Given the description of an element on the screen output the (x, y) to click on. 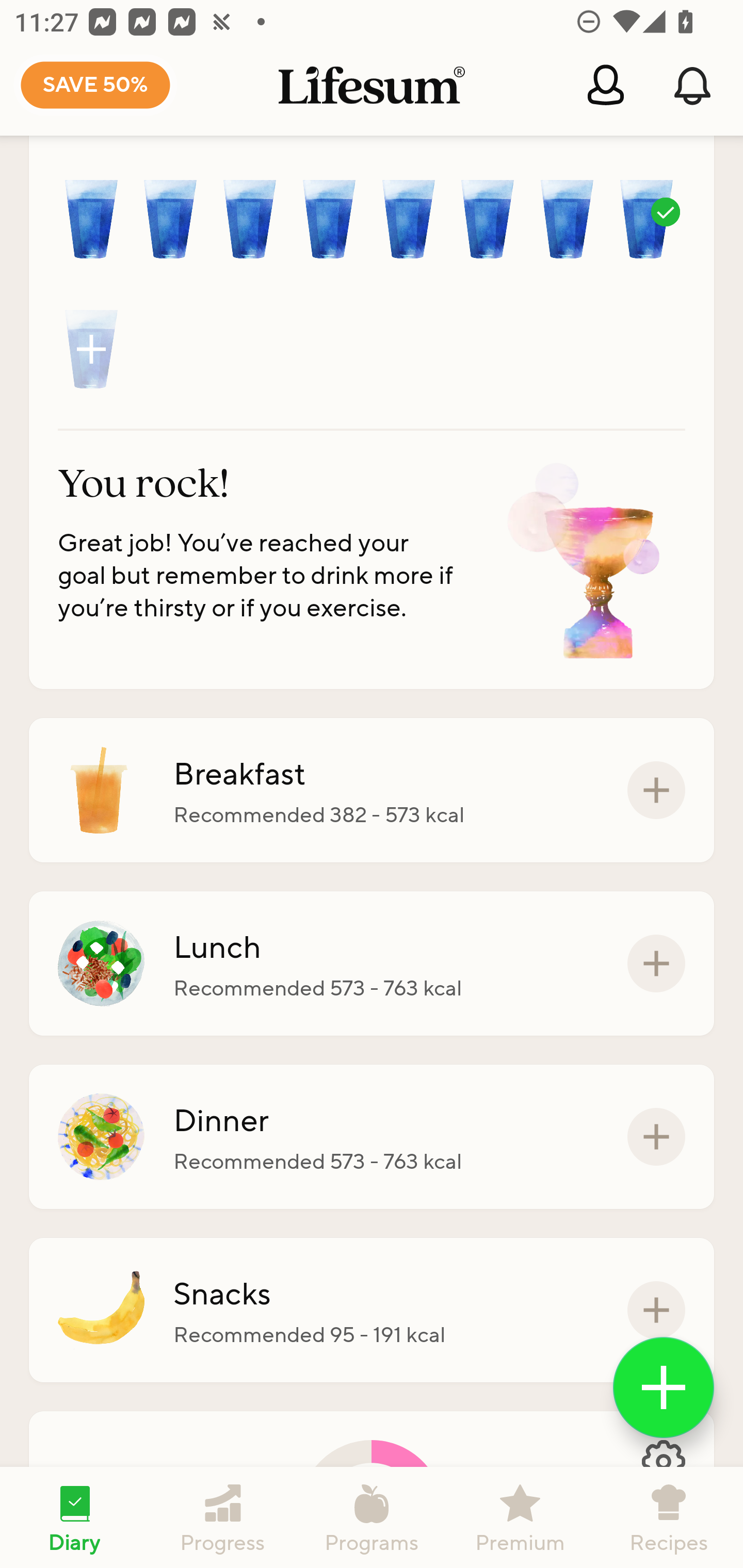
Breakfast Recommended 382 - 573 kcal (371, 790)
Lunch Recommended 573 - 763 kcal (371, 963)
Dinner Recommended 573 - 763 kcal (371, 1136)
Snacks Recommended 95 - 191 kcal (371, 1309)
Progress (222, 1517)
Programs (371, 1517)
Premium (519, 1517)
Recipes (668, 1517)
